Given the description of an element on the screen output the (x, y) to click on. 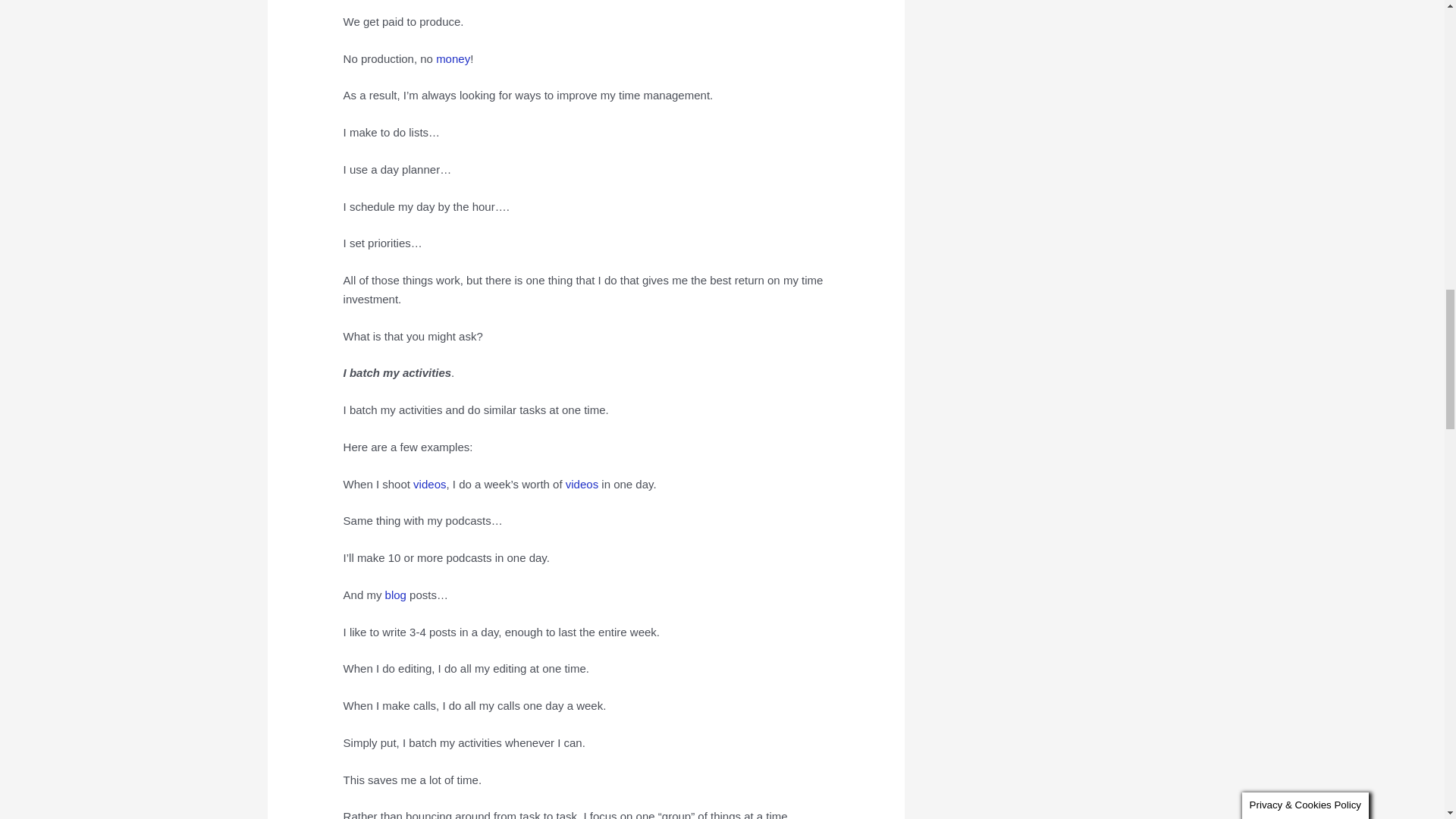
15 Second Script (582, 483)
Site Ground (395, 594)
HB Naturals (452, 58)
15 Second Script (429, 483)
